Given the description of an element on the screen output the (x, y) to click on. 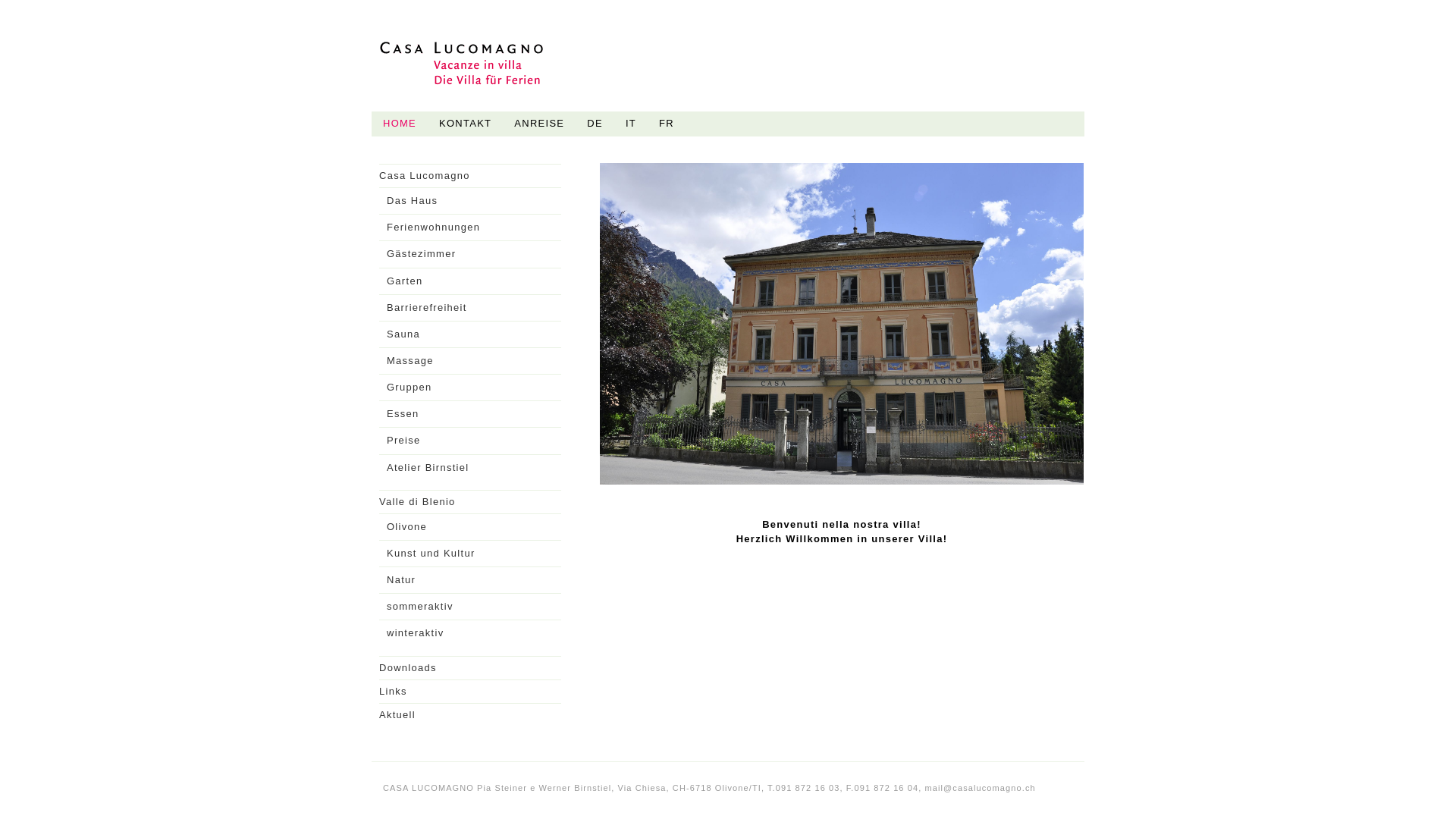
sommeraktiv Element type: text (470, 606)
Kunst und Kultur Element type: text (470, 553)
DE Element type: text (594, 123)
KONTAKT Element type: text (464, 123)
Olivone Element type: text (470, 526)
winteraktiv Element type: text (470, 632)
ANREISE Element type: text (538, 123)
Ferienwohnungen Element type: text (470, 227)
Natur Element type: text (470, 579)
Valle di Blenio Element type: text (470, 501)
IT Element type: text (630, 123)
Gruppen Element type: text (470, 387)
Links Element type: text (470, 691)
Essen Element type: text (470, 413)
Atelier Birnstiel Element type: text (470, 467)
FR Element type: text (666, 123)
Downloads Element type: text (470, 667)
Aktuell Element type: text (470, 714)
Preise Element type: text (470, 440)
Das Haus Element type: text (470, 200)
Massage Element type: text (470, 360)
HOME Element type: text (399, 123)
Casa Lucomagno Element type: text (470, 175)
Barrierefreiheit Element type: text (470, 307)
mail@casalucomagno.ch Element type: text (980, 787)
Garten Element type: text (470, 281)
Sauna Element type: text (470, 334)
